Given the description of an element on the screen output the (x, y) to click on. 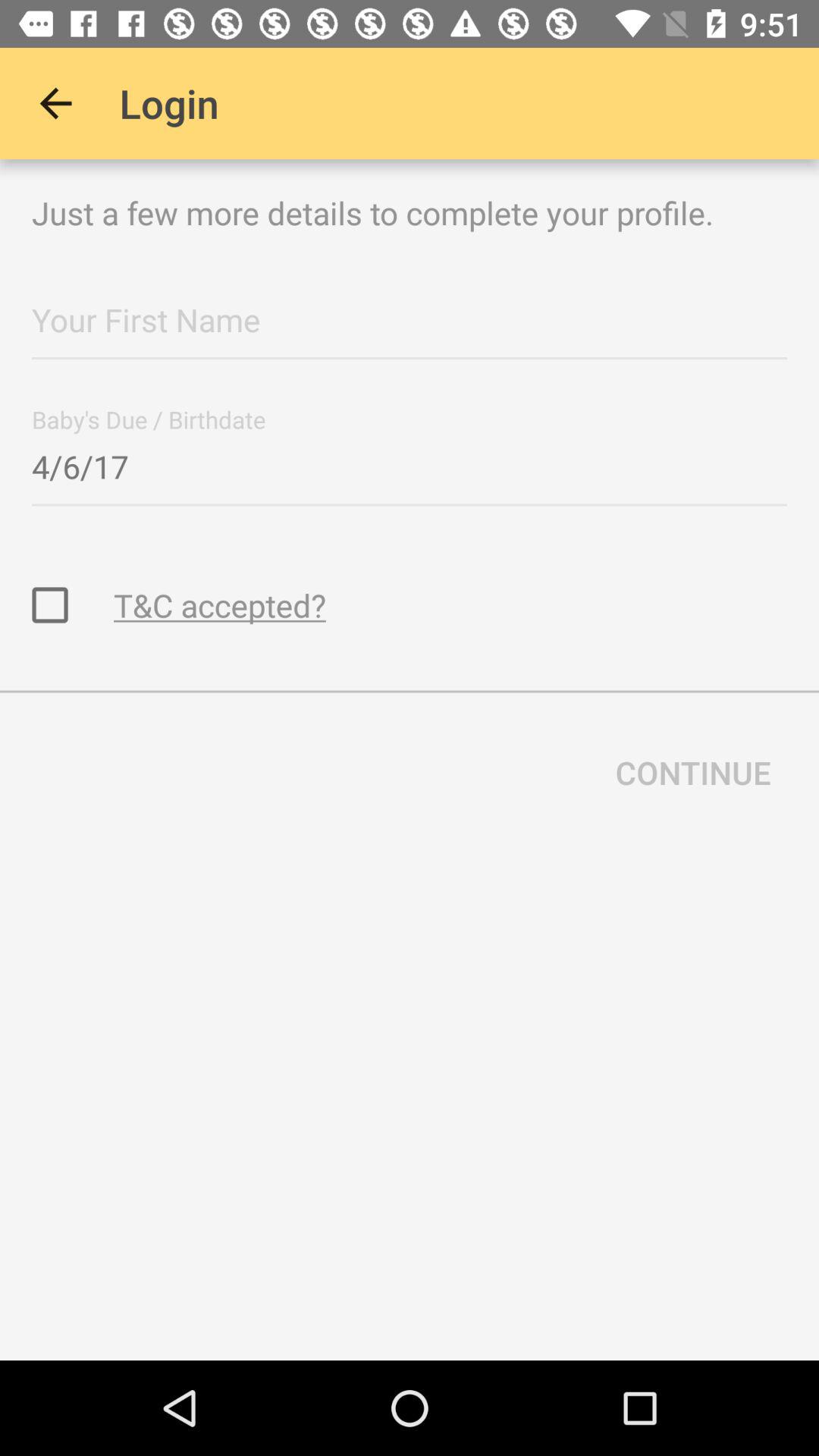
open the icon above the t&c accepted? (409, 461)
